Given the description of an element on the screen output the (x, y) to click on. 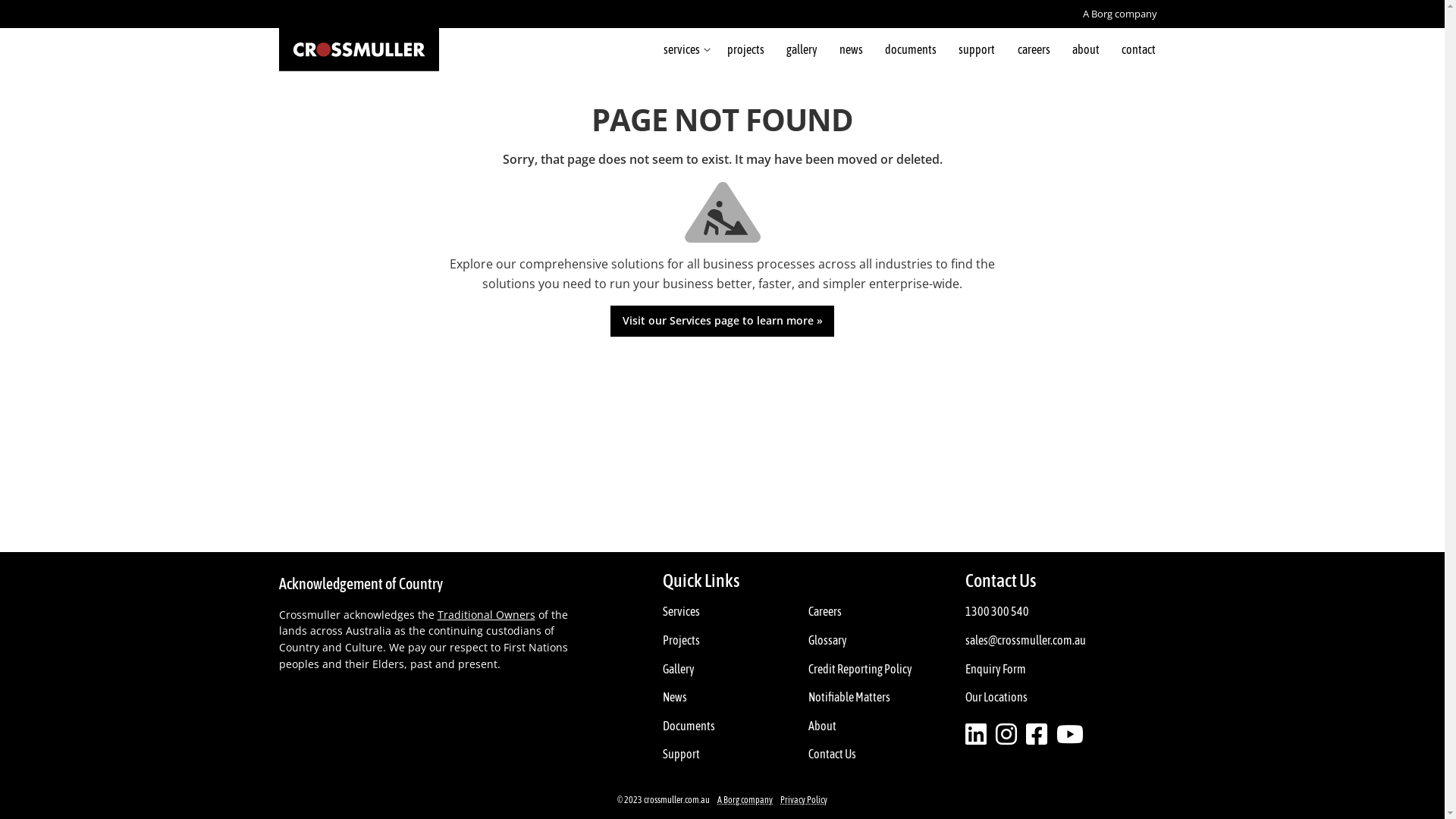
Crossmuller's Facebook Profile Element type: hover (1069, 734)
1300 300 540 Element type: text (996, 611)
Traditional Owners Element type: text (485, 614)
A Borg company Element type: text (744, 799)
Crossmuller's LinkedIn Profile Element type: hover (975, 734)
support Element type: text (976, 49)
Notifiable Matters Element type: text (848, 697)
Gallery Element type: text (678, 669)
news Element type: text (850, 49)
News Element type: text (674, 697)
Crossmuller's Facebook Profile Element type: hover (1036, 734)
documents Element type: text (911, 49)
Services Element type: text (681, 611)
services Element type: text (683, 49)
Privacy Policy Element type: text (803, 799)
Documents Element type: text (688, 726)
careers Element type: text (1033, 49)
Enquiry Form Element type: text (995, 669)
Credit Reporting Policy Element type: text (859, 669)
About Element type: text (821, 726)
Careers Element type: text (824, 611)
A Borg company Element type: text (1119, 14)
Support Element type: text (681, 754)
sales@crossmuller.com.au Element type: text (1025, 640)
projects Element type: text (745, 49)
Our Locations Element type: text (996, 697)
Crossmuller's Instagram Profile Element type: hover (1005, 734)
gallery Element type: text (801, 49)
contact Element type: text (1137, 49)
Projects Element type: text (681, 640)
about Element type: text (1085, 49)
Glossary Element type: text (827, 640)
Contact Us Element type: text (831, 754)
